Given the description of an element on the screen output the (x, y) to click on. 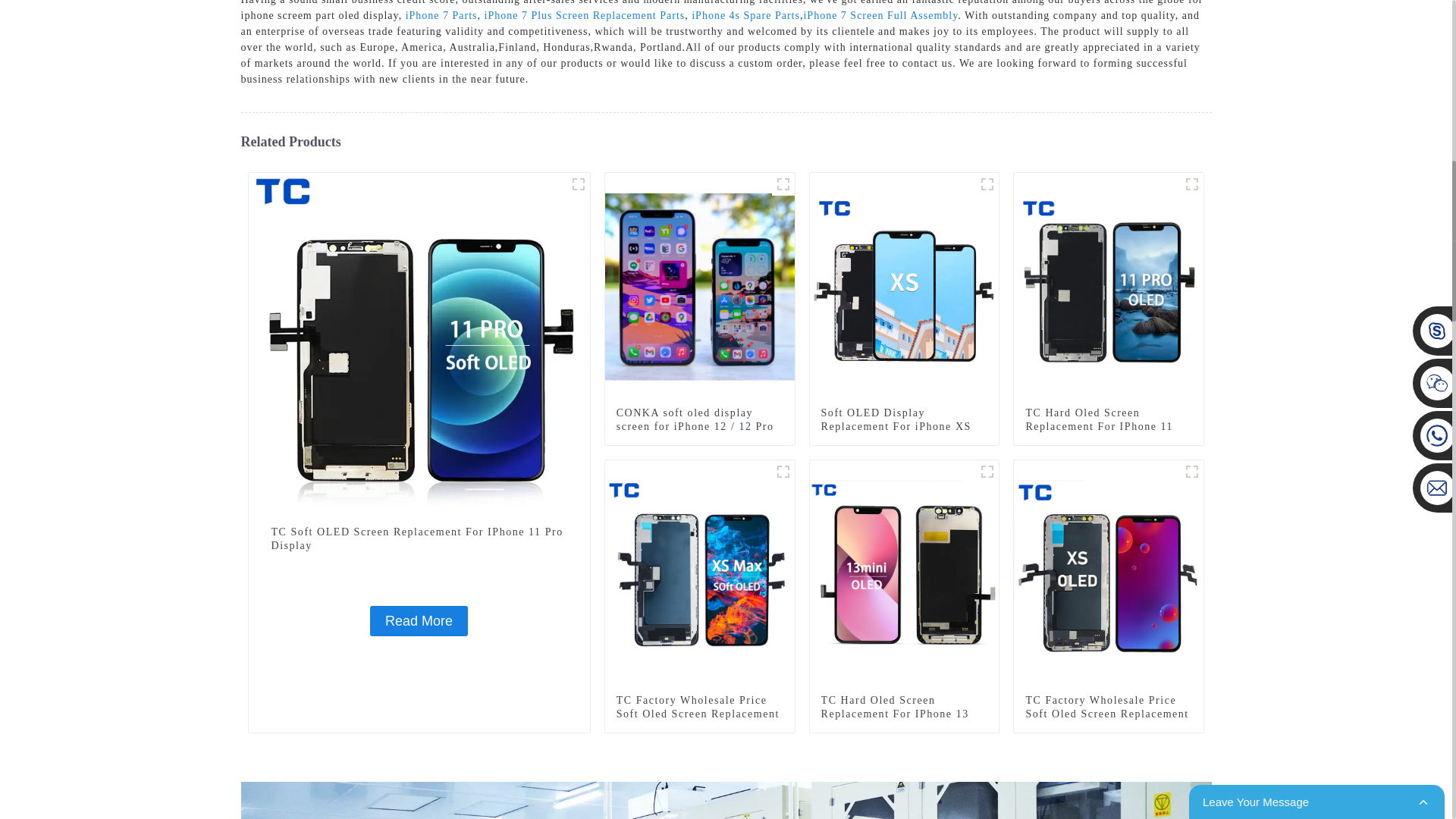
TC Hard Oled Screen Replacement For IPhone 11 Pro Display (1108, 426)
iPhone 4s Spare Parts (745, 15)
11-PRO--1 (578, 183)
iPhone 7 Plus Screen Replacement Parts (584, 15)
TC Soft OLED Screen Replacement For IPhone 11 Pro Display (418, 621)
CONKA Soft Oled Display Screen For IPhone 12  (782, 183)
Read More (418, 621)
iPhone 7 Screen Full Assembly (880, 15)
TC Hard Oled Screen Replacement For IPhone 11 Pro Display (1108, 426)
Soft OLED Display Replacement For iPhone XS (904, 420)
